Given the description of an element on the screen output the (x, y) to click on. 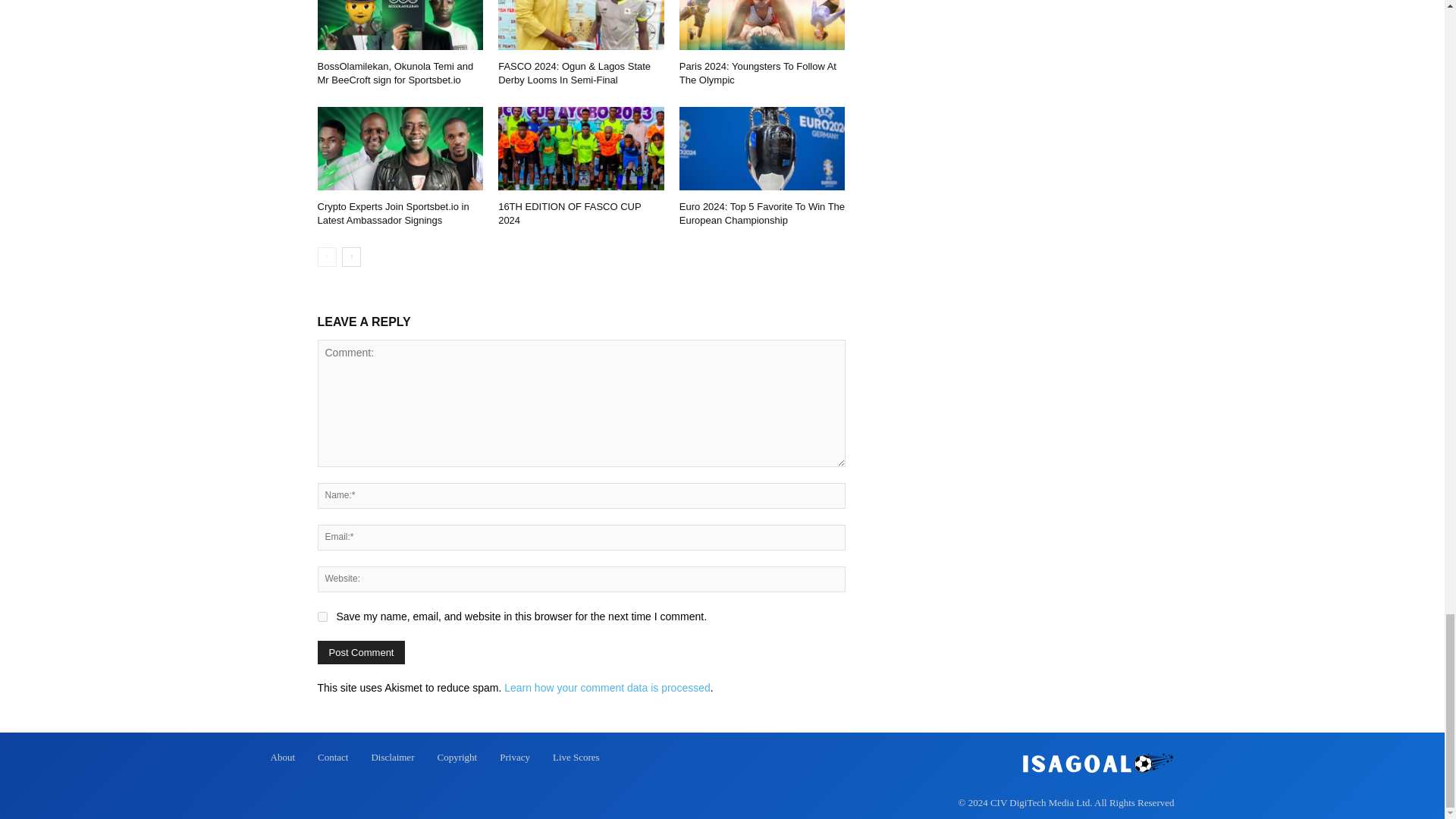
yes (321, 616)
Post Comment (360, 652)
